Given the description of an element on the screen output the (x, y) to click on. 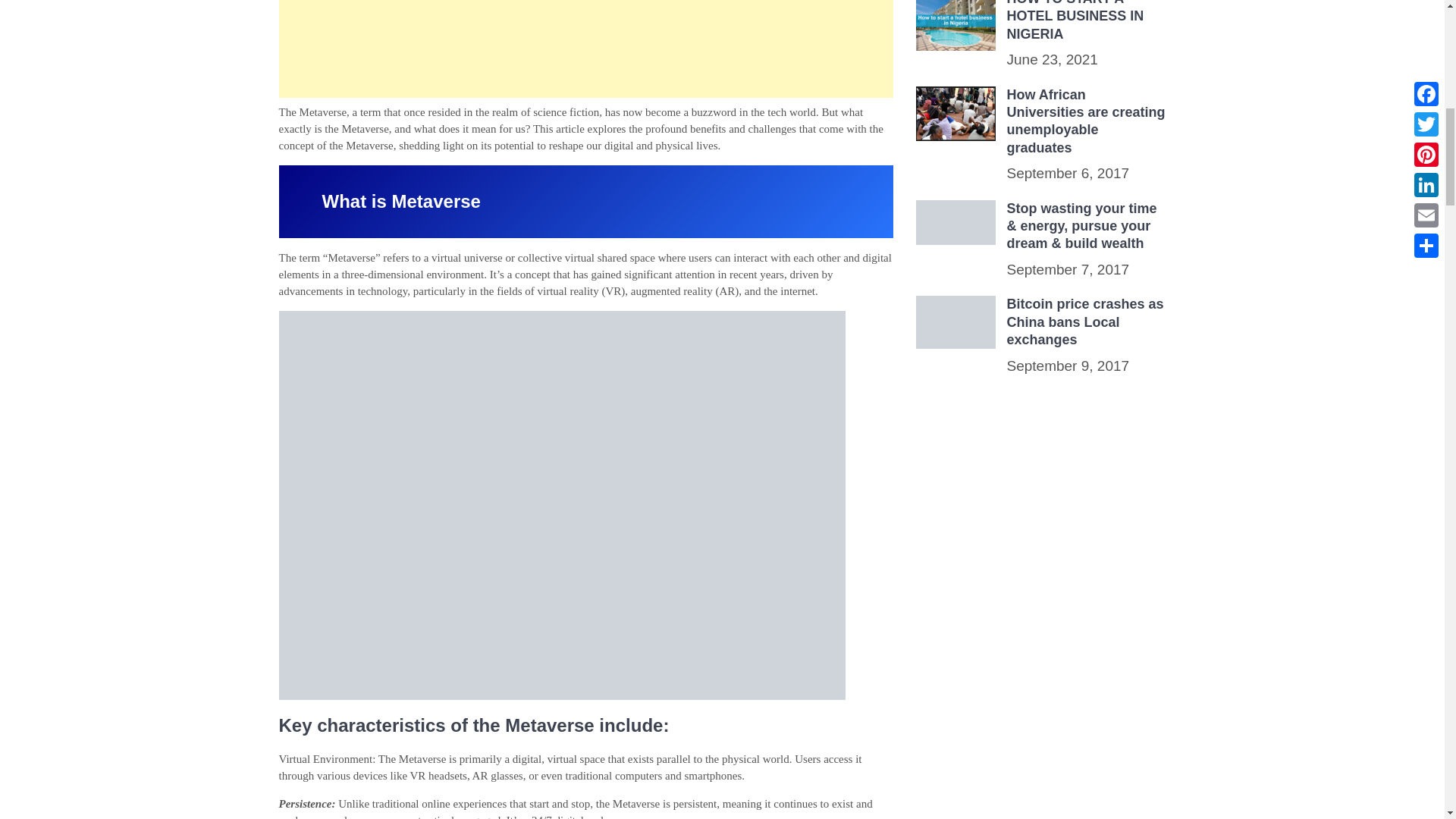
Advertisement (586, 48)
